Given the description of an element on the screen output the (x, y) to click on. 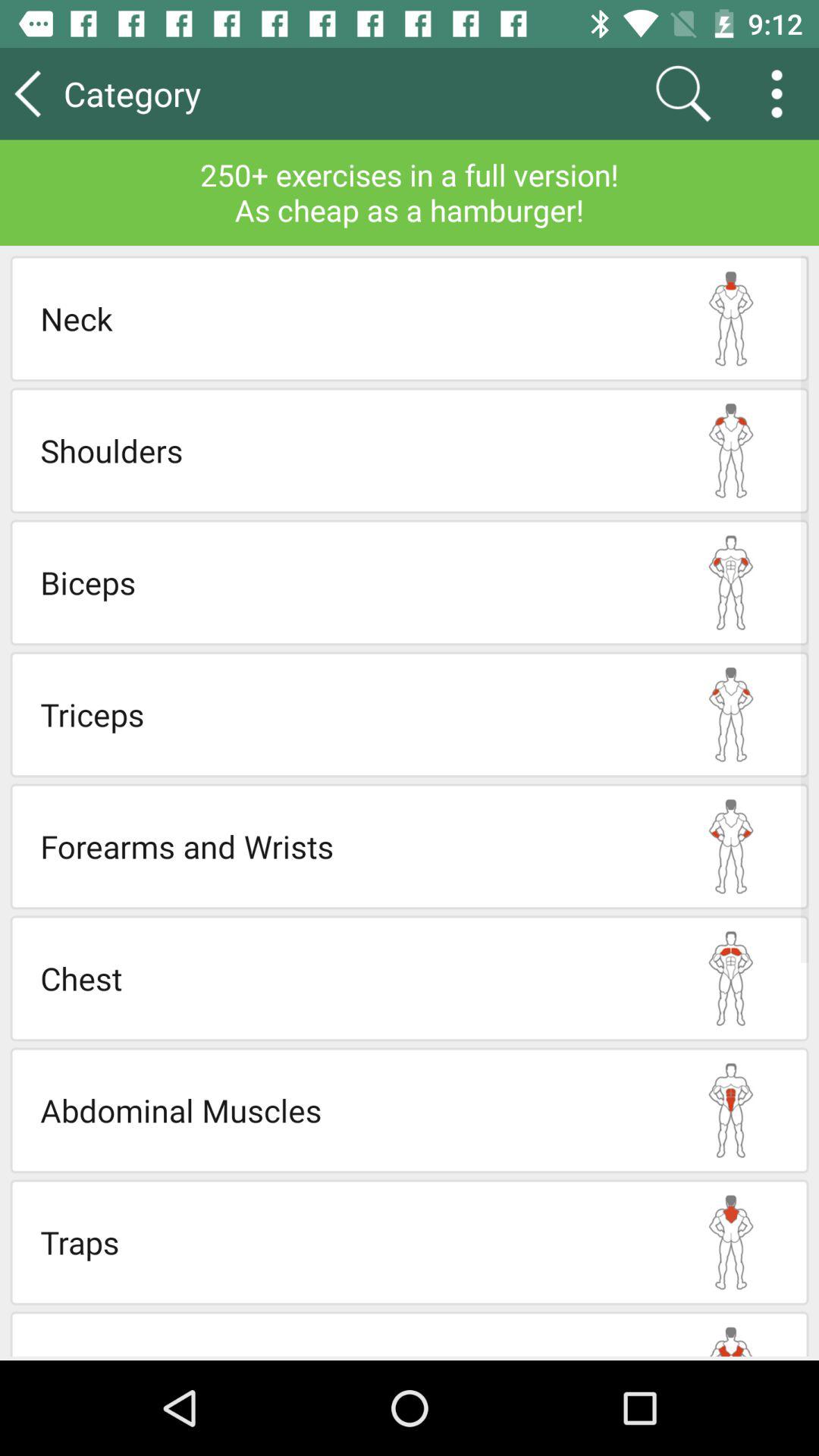
click triceps icon (346, 714)
